Given the description of an element on the screen output the (x, y) to click on. 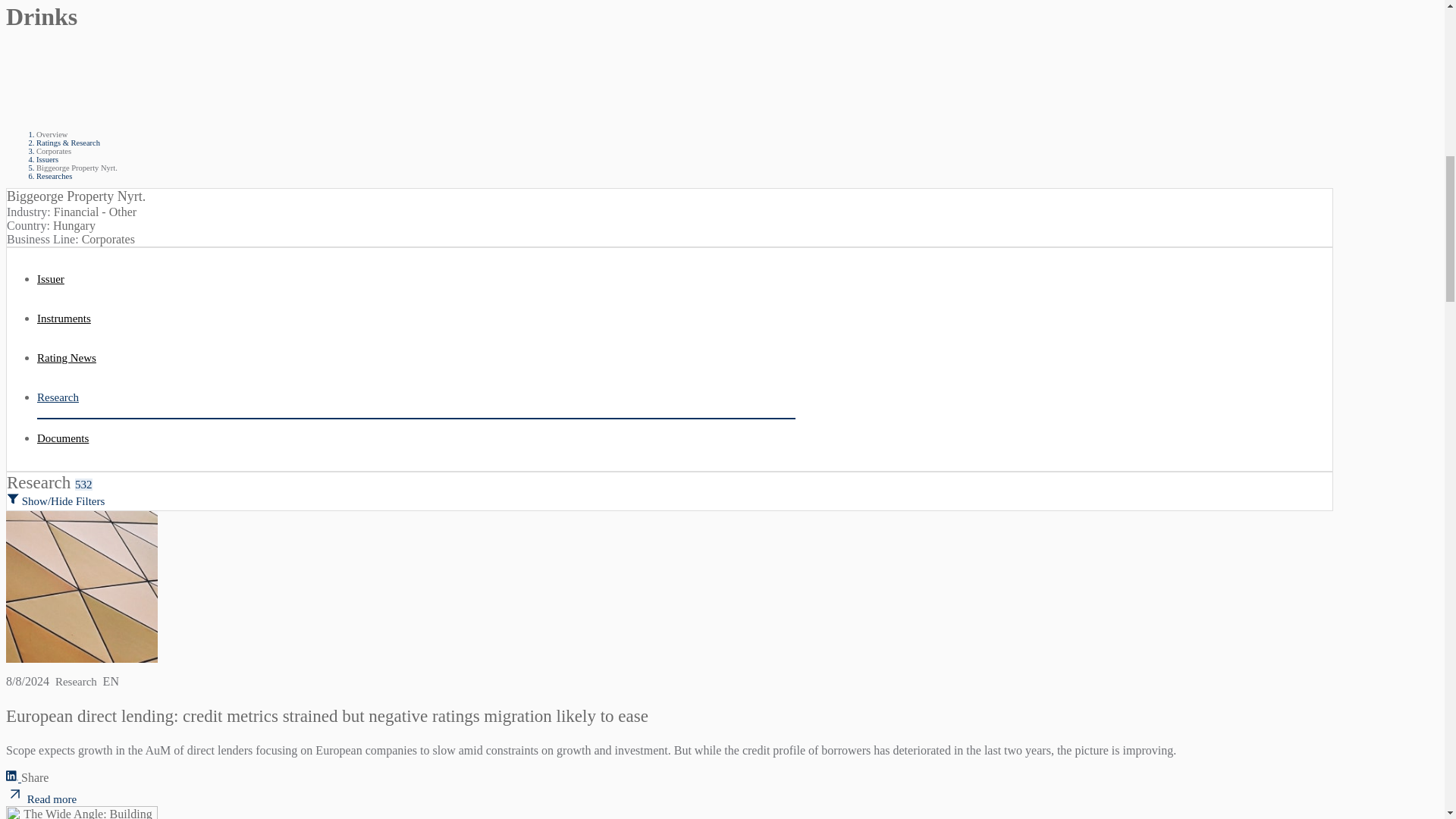
Rating News (53, 151)
Corporates (415, 358)
Biggeorge Property Nyrt. (53, 151)
Rating News (76, 167)
Biggeorge Property Nyrt. Issuer name (415, 358)
Instruments (76, 167)
Research (415, 319)
